Given the description of an element on the screen output the (x, y) to click on. 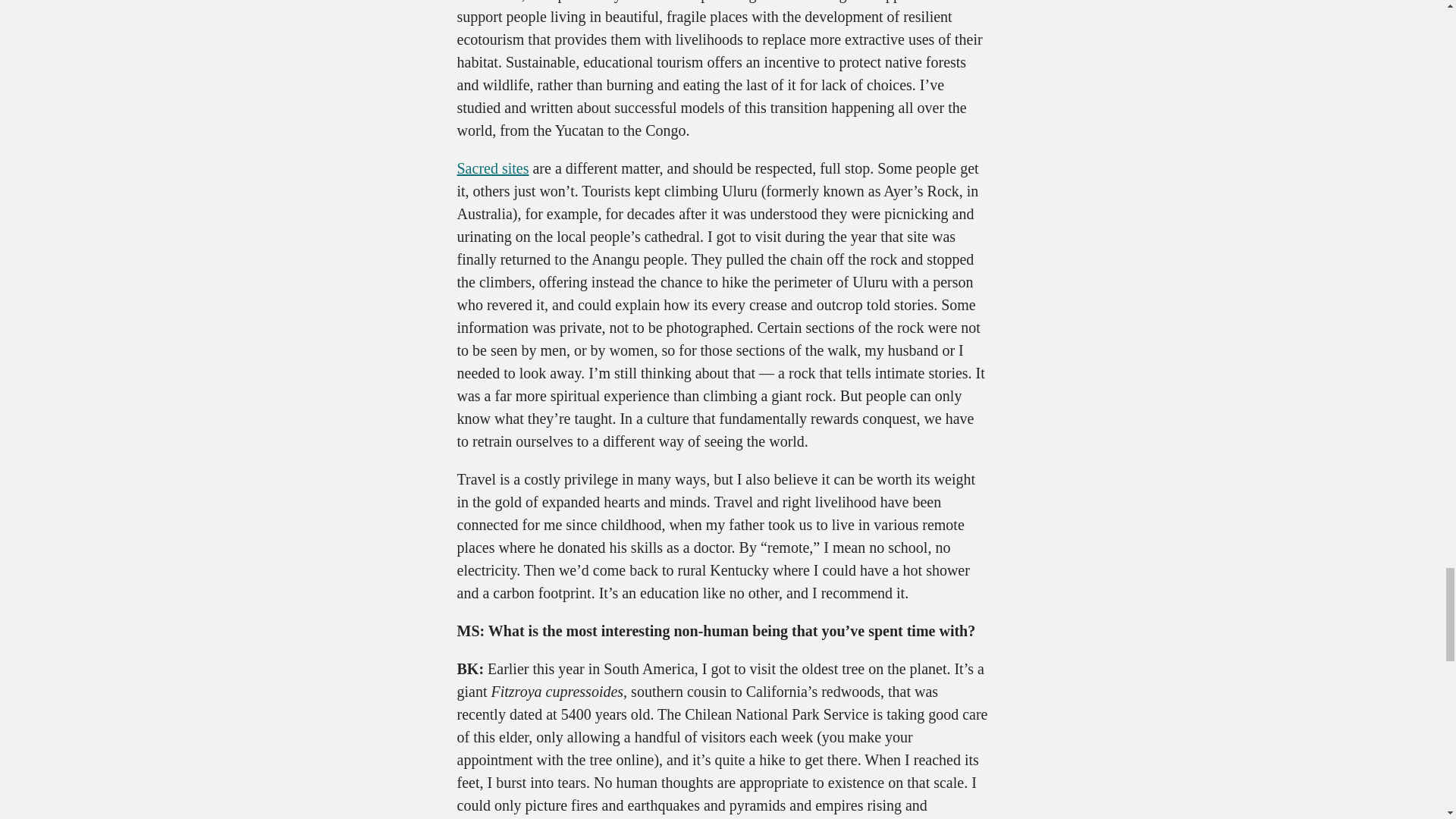
Sacred sites (492, 167)
